Given the description of an element on the screen output the (x, y) to click on. 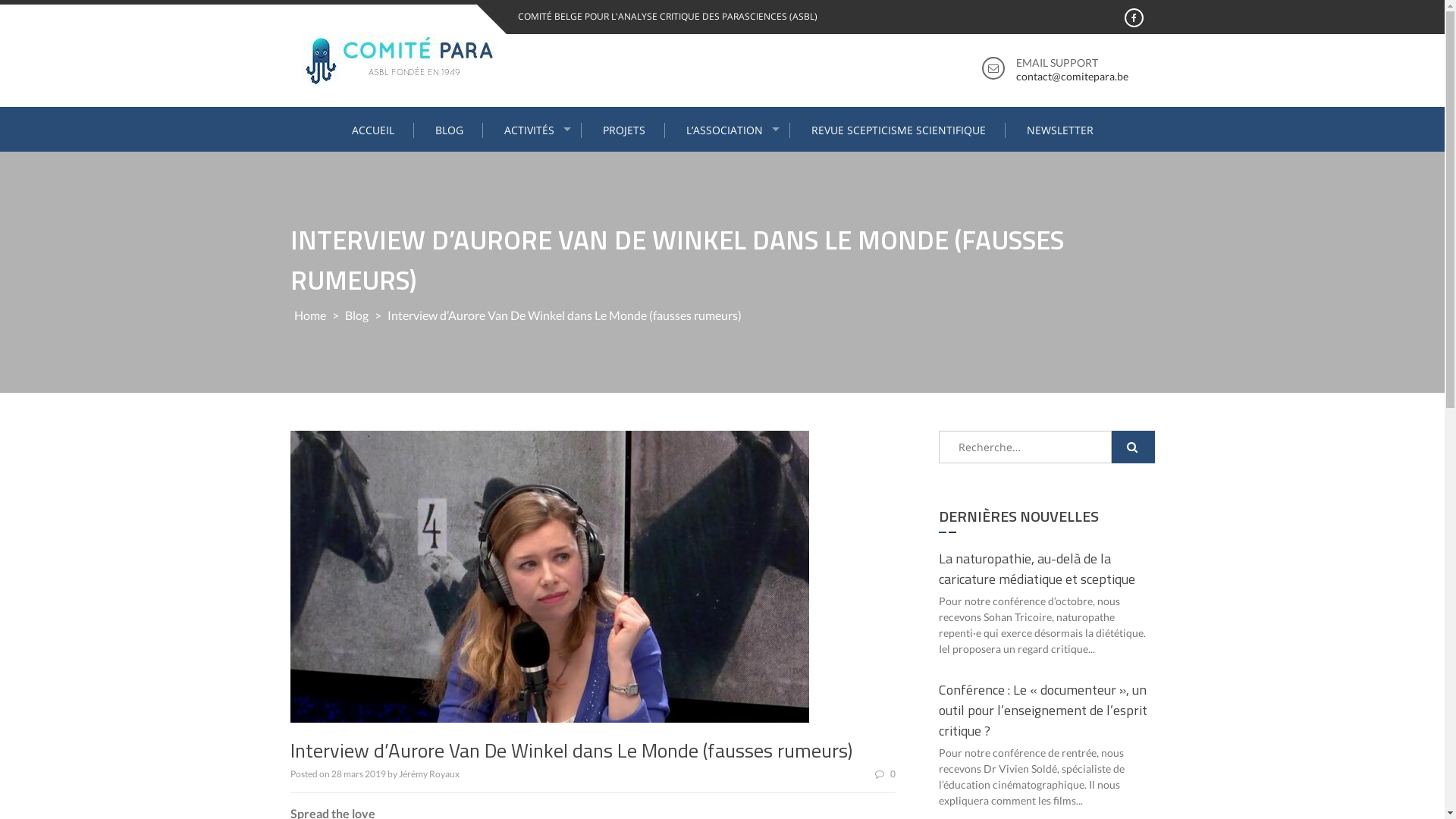
BLOG Element type: text (448, 130)
28 mars 2019 Element type: text (357, 773)
Rechercher Element type: text (1132, 446)
Home Element type: text (309, 314)
ACCUEIL Element type: text (372, 130)
PROJETS Element type: text (624, 130)
REVUE SCEPTICISME SCIENTIFIQUE Element type: text (897, 130)
NEWSLETTER Element type: text (1059, 130)
0 Element type: text (885, 773)
contact@comitepara.be Element type: text (1072, 75)
Blog Element type: text (356, 314)
